Given the description of an element on the screen output the (x, y) to click on. 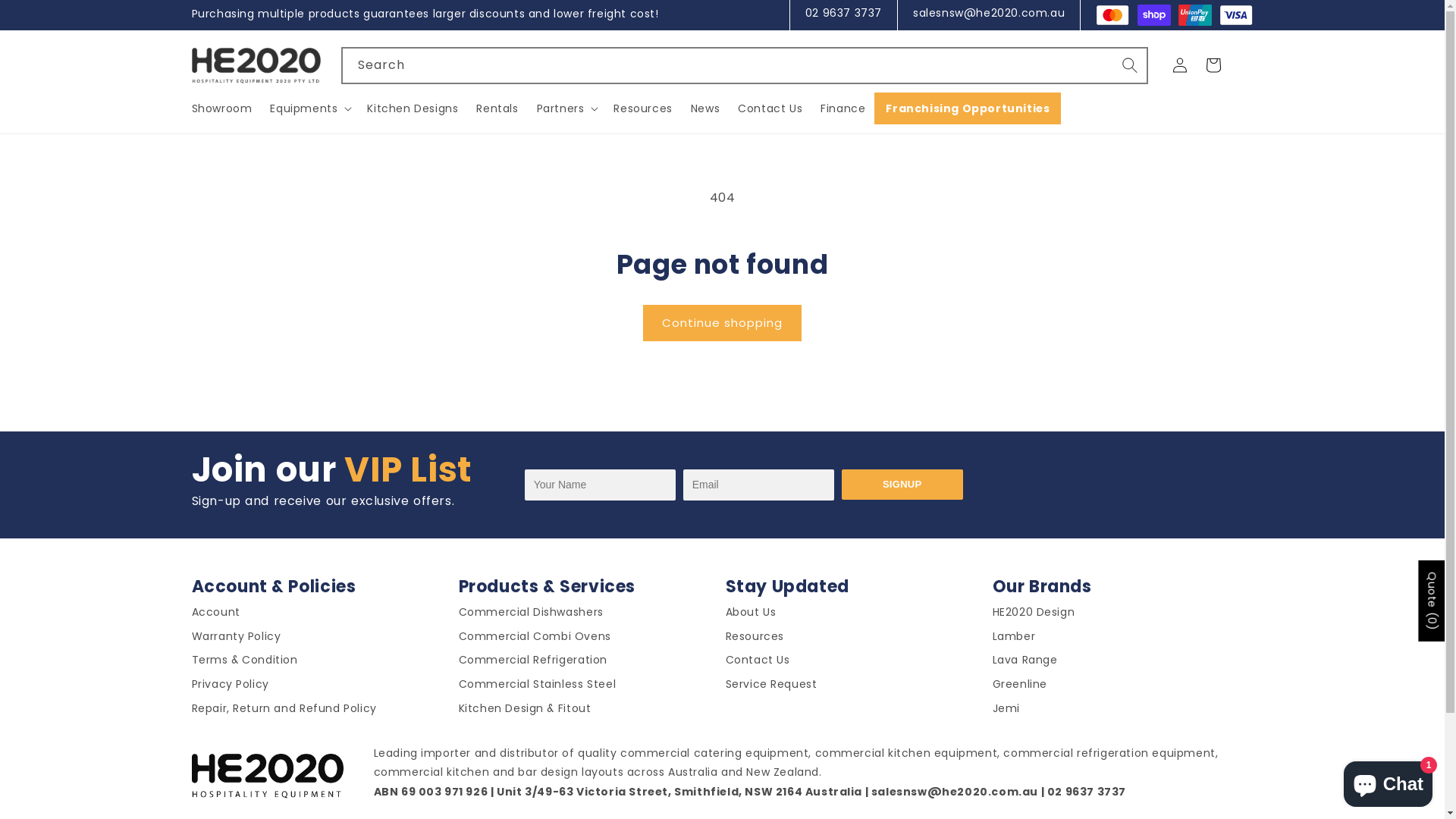
salesnsw@he2020.com.au Element type: text (988, 12)
Terms & Condition Element type: text (244, 662)
Repair, Return and Refund Policy Element type: text (283, 711)
SIGNUP Element type: text (902, 484)
News Element type: text (704, 108)
Contact Us Element type: text (769, 108)
Cart Element type: text (1213, 64)
Finance Element type: text (842, 108)
Commercial Refrigeration Element type: text (532, 662)
Lamber Element type: text (1013, 639)
Contact Us Element type: text (756, 662)
Commercial Dishwashers Element type: text (530, 615)
Privacy Policy Element type: text (229, 687)
Showroom Element type: text (225, 108)
Commercial Stainless Steel Element type: text (536, 687)
Greenline Element type: text (1018, 687)
Warranty Policy Element type: text (235, 639)
Service Request Element type: text (770, 687)
Franchising Opportunities Element type: text (967, 108)
Resources Element type: text (753, 639)
Shopify online store chat Element type: hover (1388, 780)
Resources Element type: text (642, 108)
Kitchen Design & Fitout Element type: text (524, 711)
About Us Element type: text (749, 615)
Jemi Element type: text (1005, 711)
Lava Range Element type: text (1024, 662)
Commercial Combi Ovens Element type: text (534, 639)
Rentals Element type: text (497, 108)
Log in Element type: text (1179, 64)
Account Element type: text (215, 615)
Kitchen Designs Element type: text (412, 108)
Continue shopping Element type: text (722, 322)
HE2020 Design Element type: text (1032, 615)
02 9637 3737 Element type: text (843, 12)
